Given the description of an element on the screen output the (x, y) to click on. 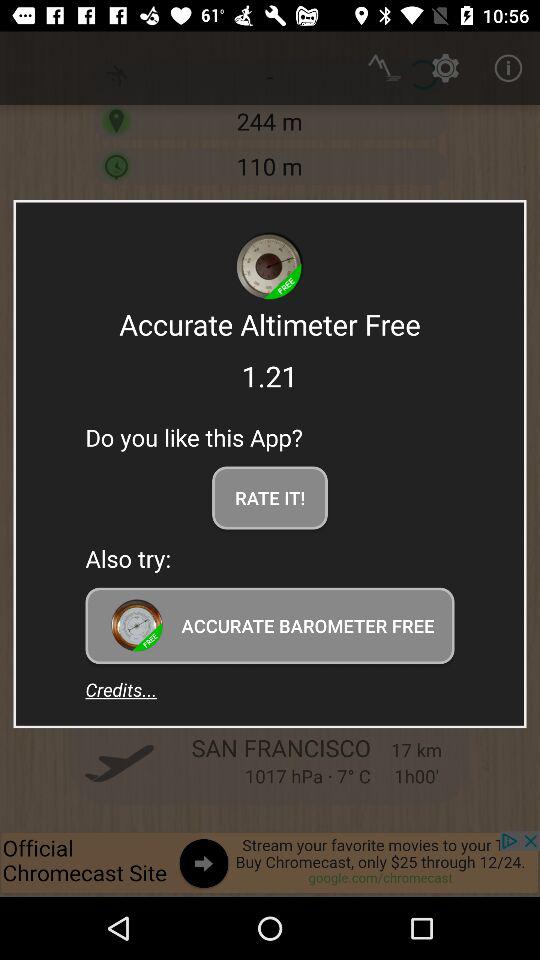
jump to rate it! button (269, 497)
